Given the description of an element on the screen output the (x, y) to click on. 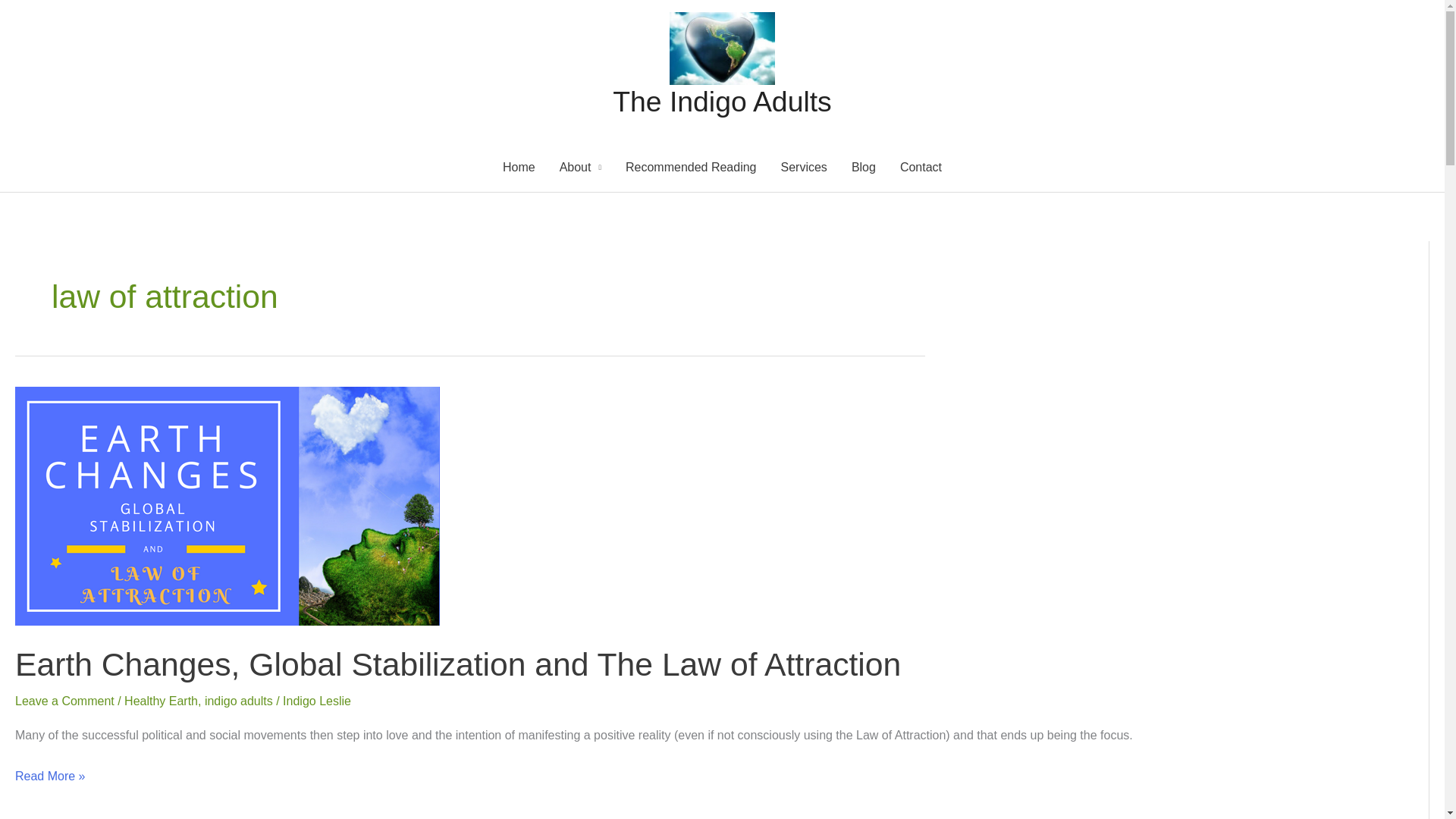
Contact (920, 167)
View all posts by Indigo Leslie (316, 700)
indigo adults recommended reading (690, 167)
About (579, 167)
indigo adults (239, 700)
Services (804, 167)
Blog (864, 167)
Indigo Leslie (316, 700)
Leave a Comment (64, 700)
